Given the description of an element on the screen output the (x, y) to click on. 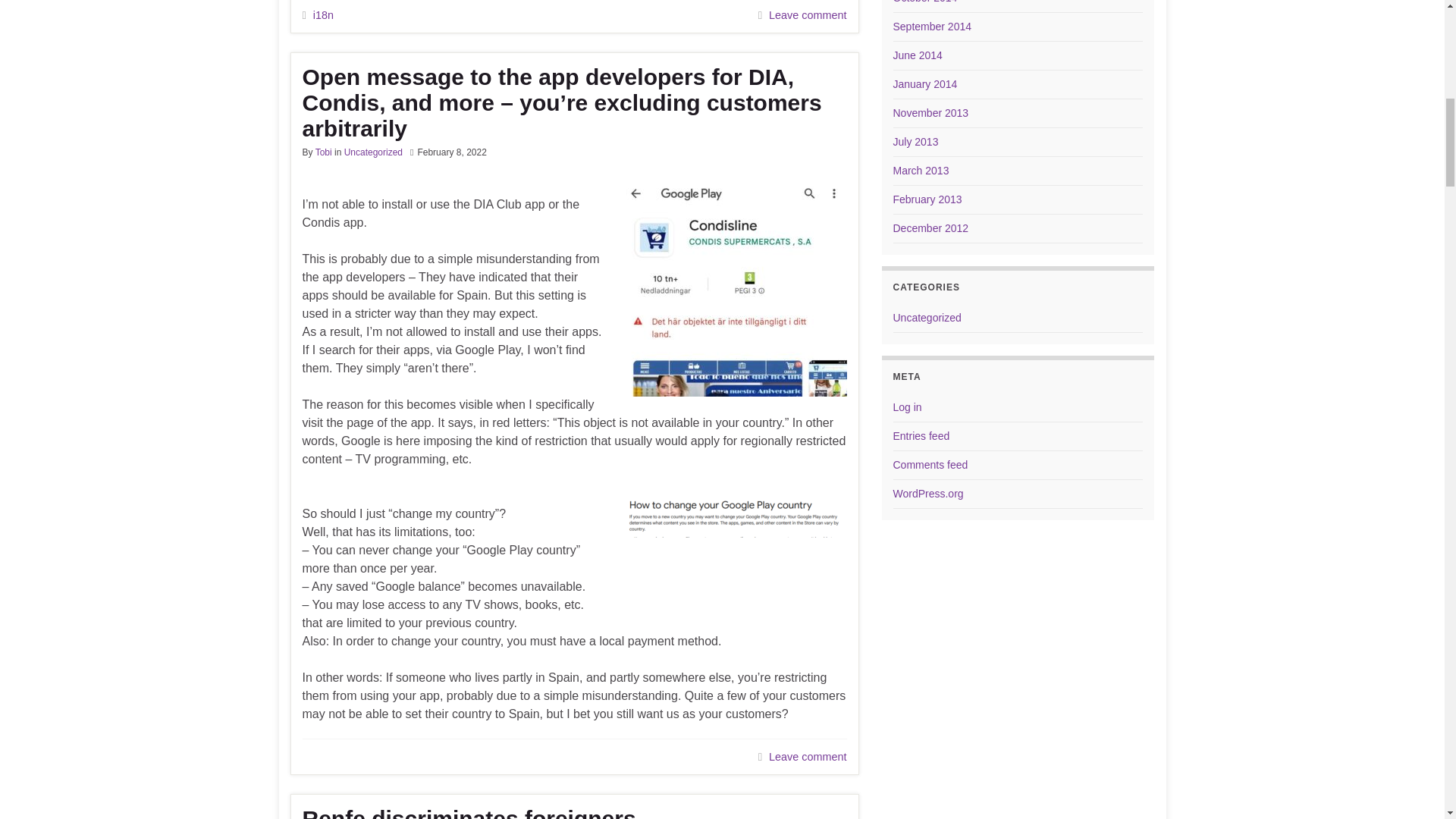
Uncategorized (373, 152)
i18n (323, 15)
Permalink to Renfe discriminates foreigners (573, 812)
Tobi (323, 152)
Leave comment (806, 15)
Renfe discriminates foreigners (573, 812)
Leave comment (806, 756)
